Given the description of an element on the screen output the (x, y) to click on. 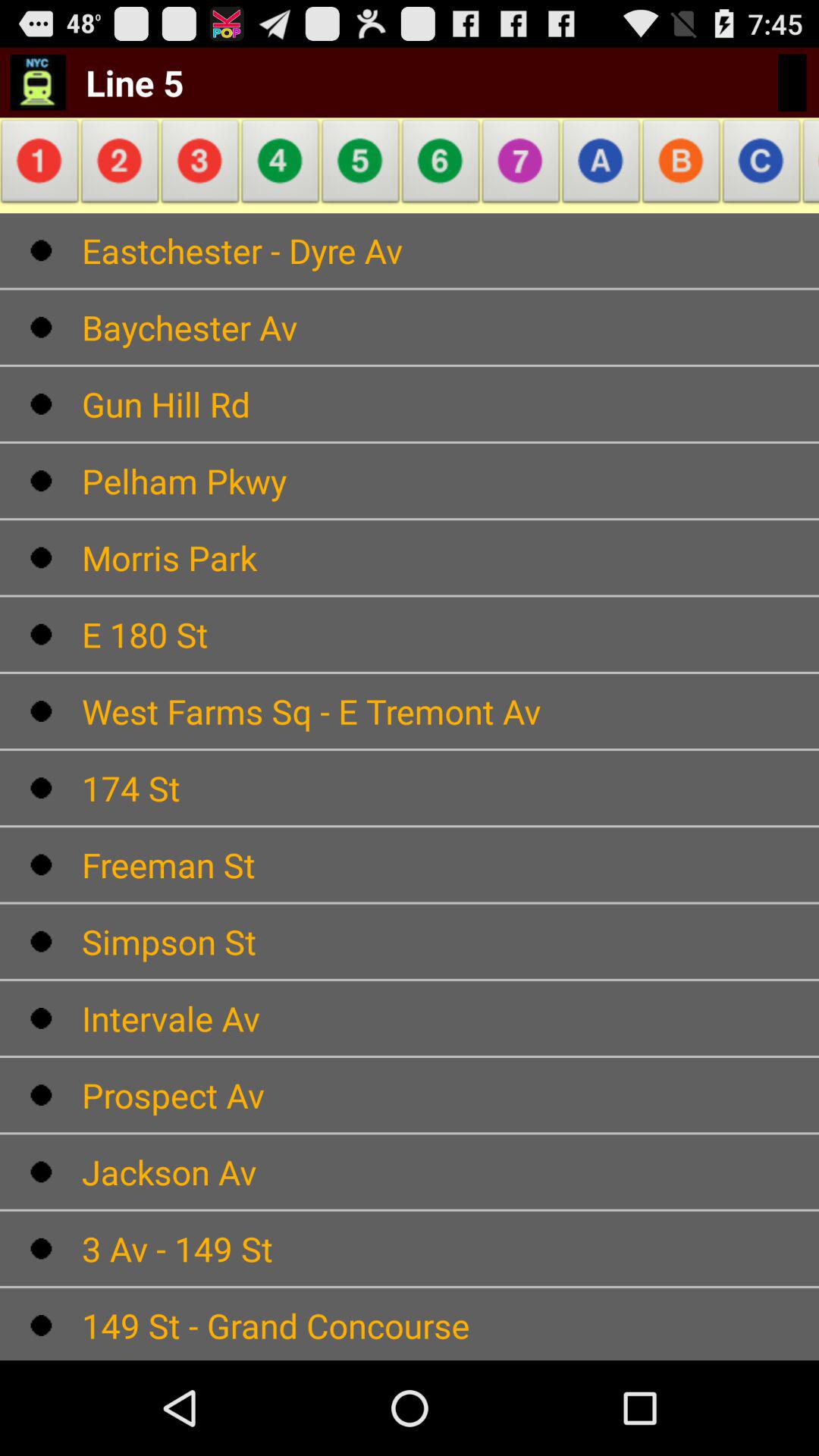
choose the item above eastchester - dyre av item (360, 165)
